Given the description of an element on the screen output the (x, y) to click on. 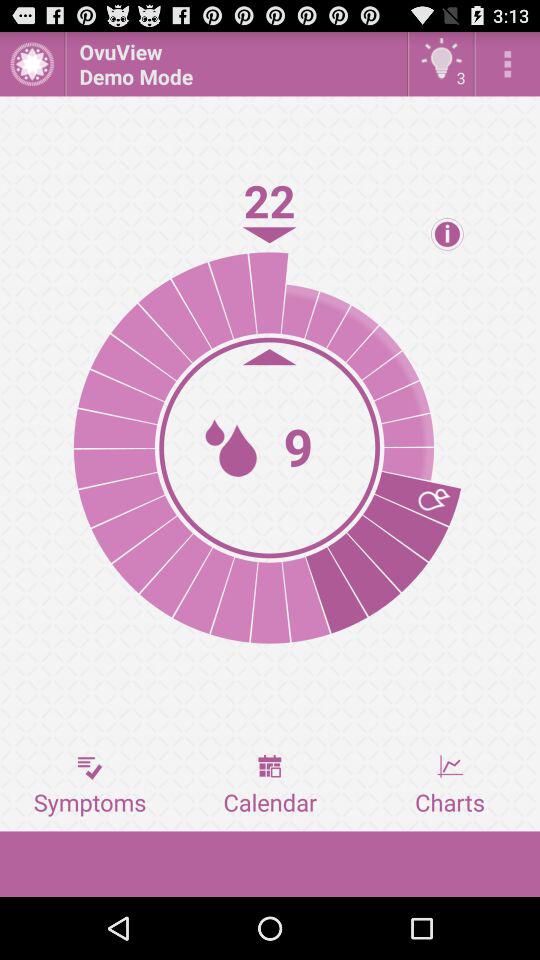
launch the button to the right of symptoms icon (270, 785)
